Given the description of an element on the screen output the (x, y) to click on. 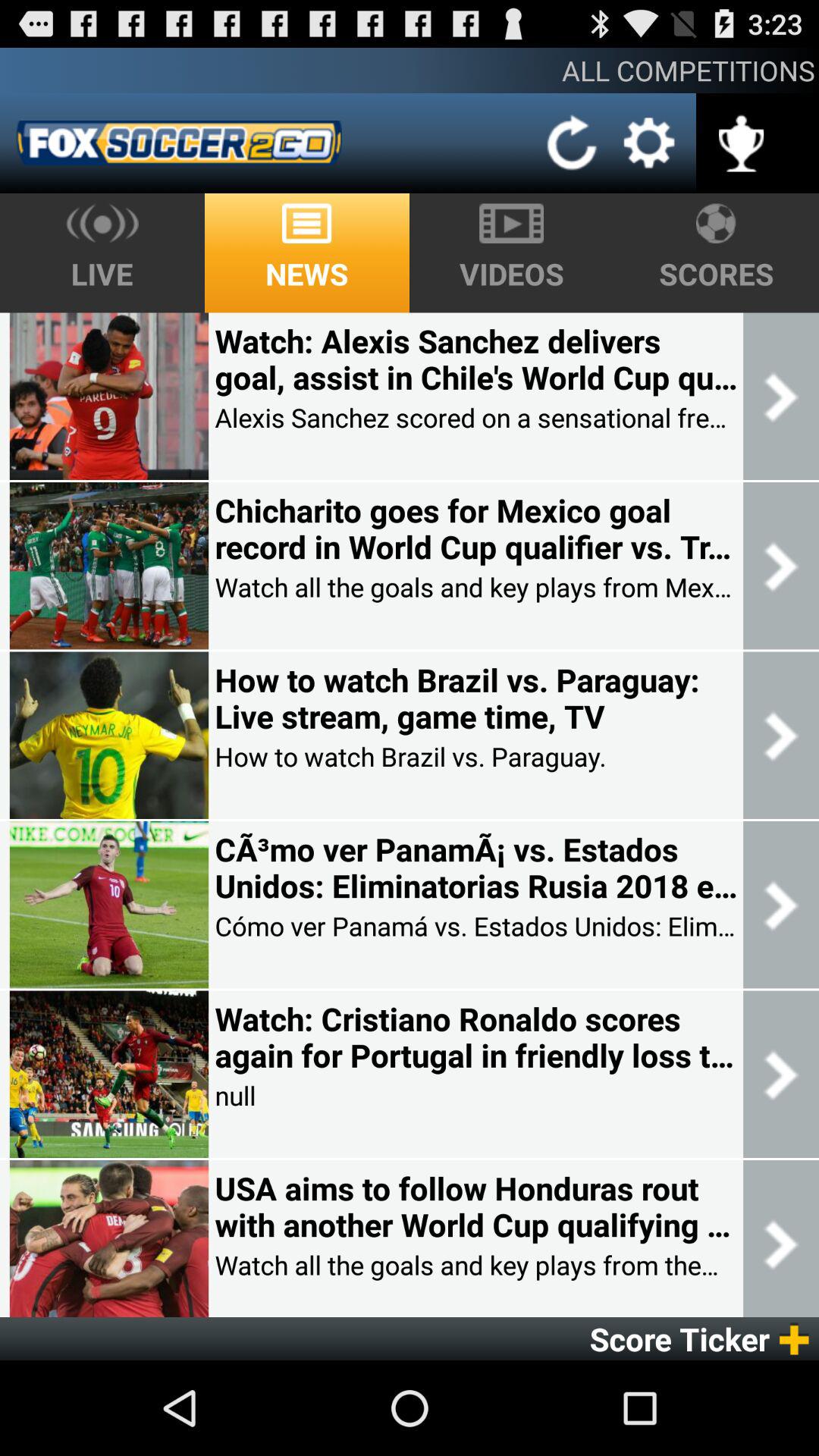
scroll until chicharito goes for (475, 528)
